Given the description of an element on the screen output the (x, y) to click on. 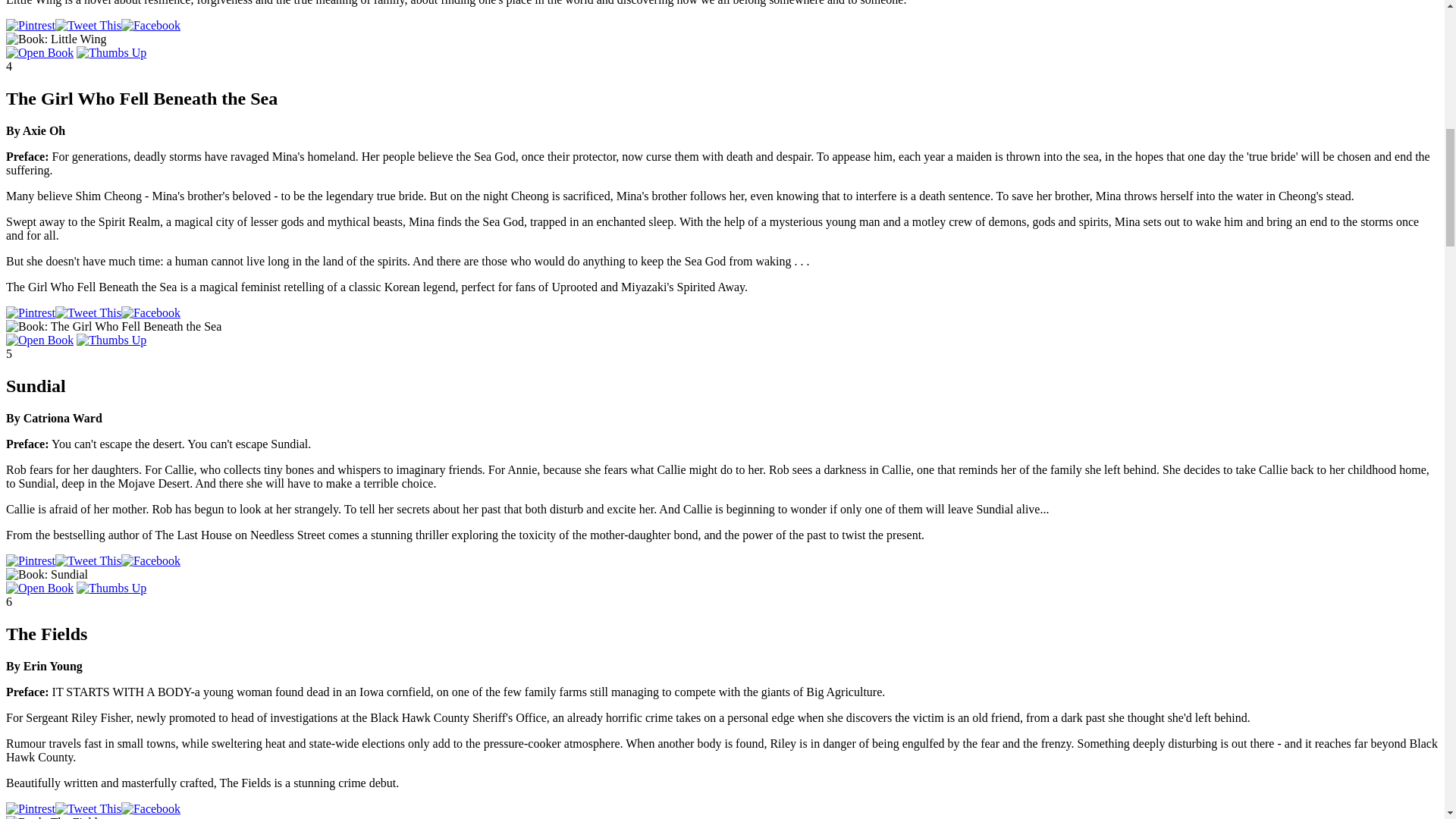
Tweet This (87, 25)
Tweet This (87, 313)
More Info On This Book (39, 51)
Pin This (30, 313)
See Our Official Review (112, 51)
Pin This (30, 25)
Post This (150, 25)
More Info On This Book (39, 339)
Post This (150, 313)
